Given the description of an element on the screen output the (x, y) to click on. 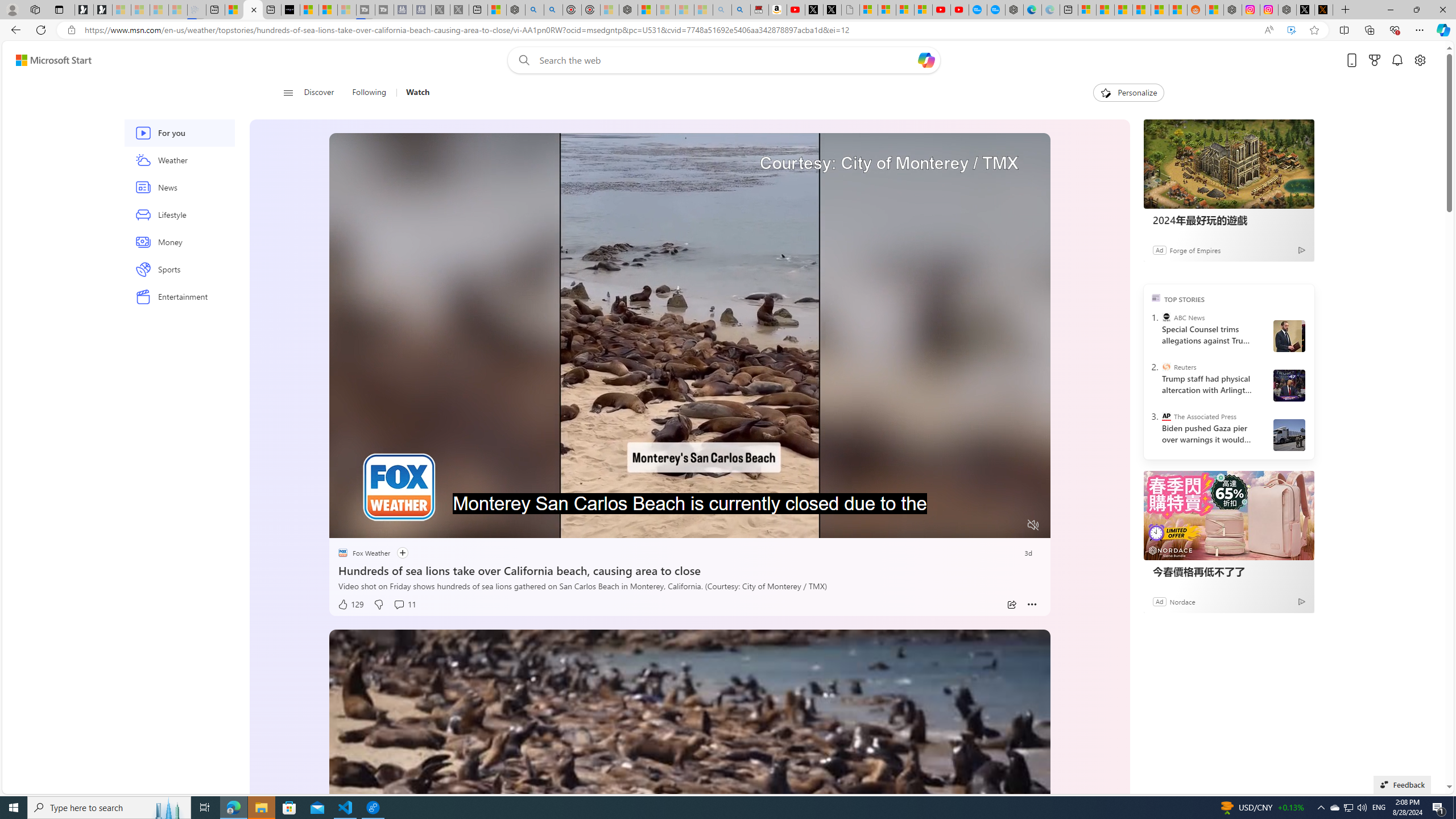
Open settings (1420, 60)
Nordace - Nordace Siena Is Not An Ordinary Backpack (628, 9)
